Given the description of an element on the screen output the (x, y) to click on. 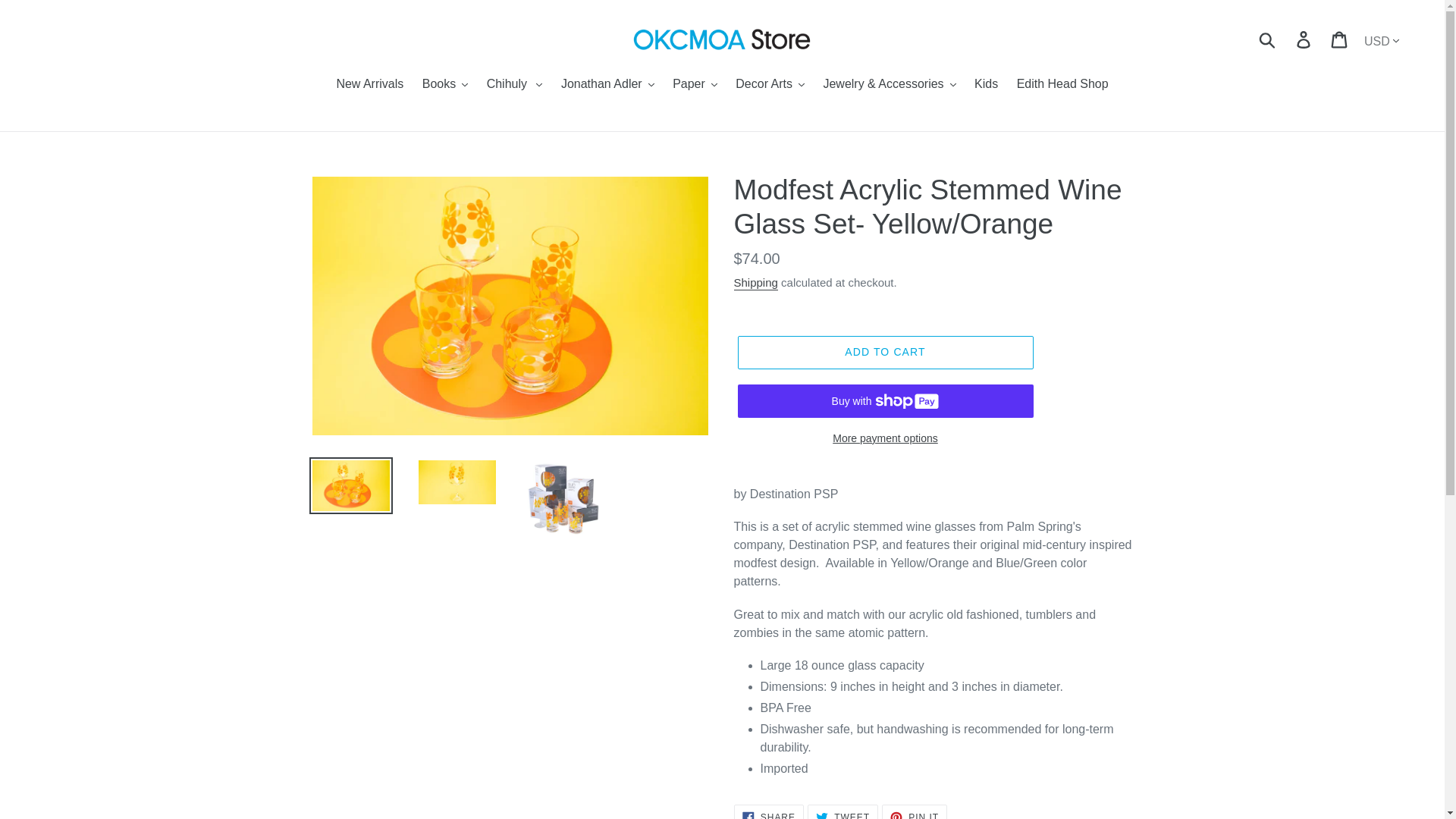
Submit (1268, 39)
Cart (1340, 39)
Log in (1304, 39)
